Given the description of an element on the screen output the (x, y) to click on. 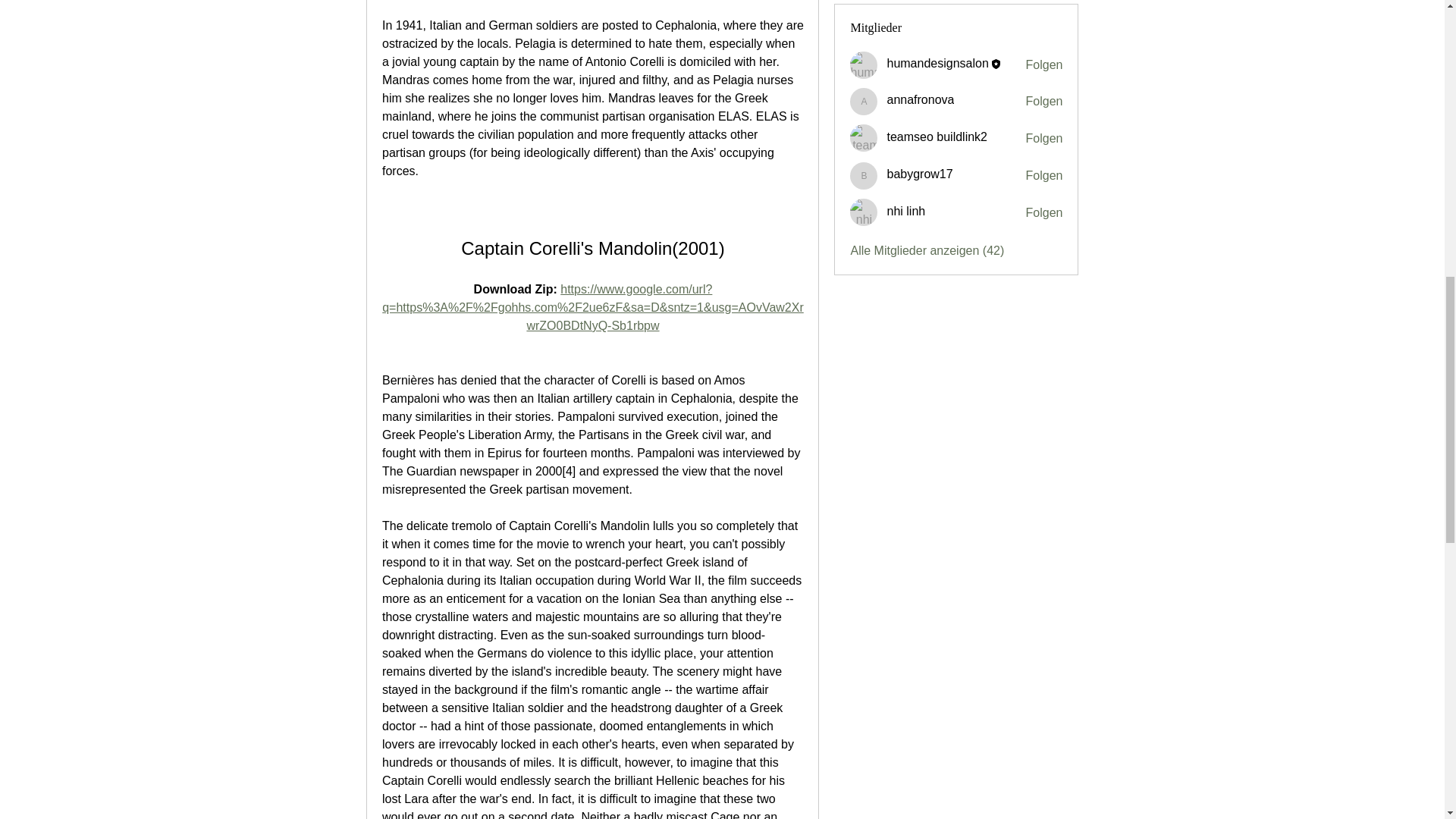
annafronova (863, 101)
Folgen (1044, 175)
nhi linh (863, 212)
Folgen (1044, 138)
Folgen (1044, 101)
humandesignsalon (937, 62)
humandesignsalon (863, 64)
babygrow17 (919, 173)
teamseo buildlink2 (863, 137)
babygrow17 (863, 175)
annafronova (919, 99)
Folgen (1044, 64)
Folgen (1044, 212)
